Given the description of an element on the screen output the (x, y) to click on. 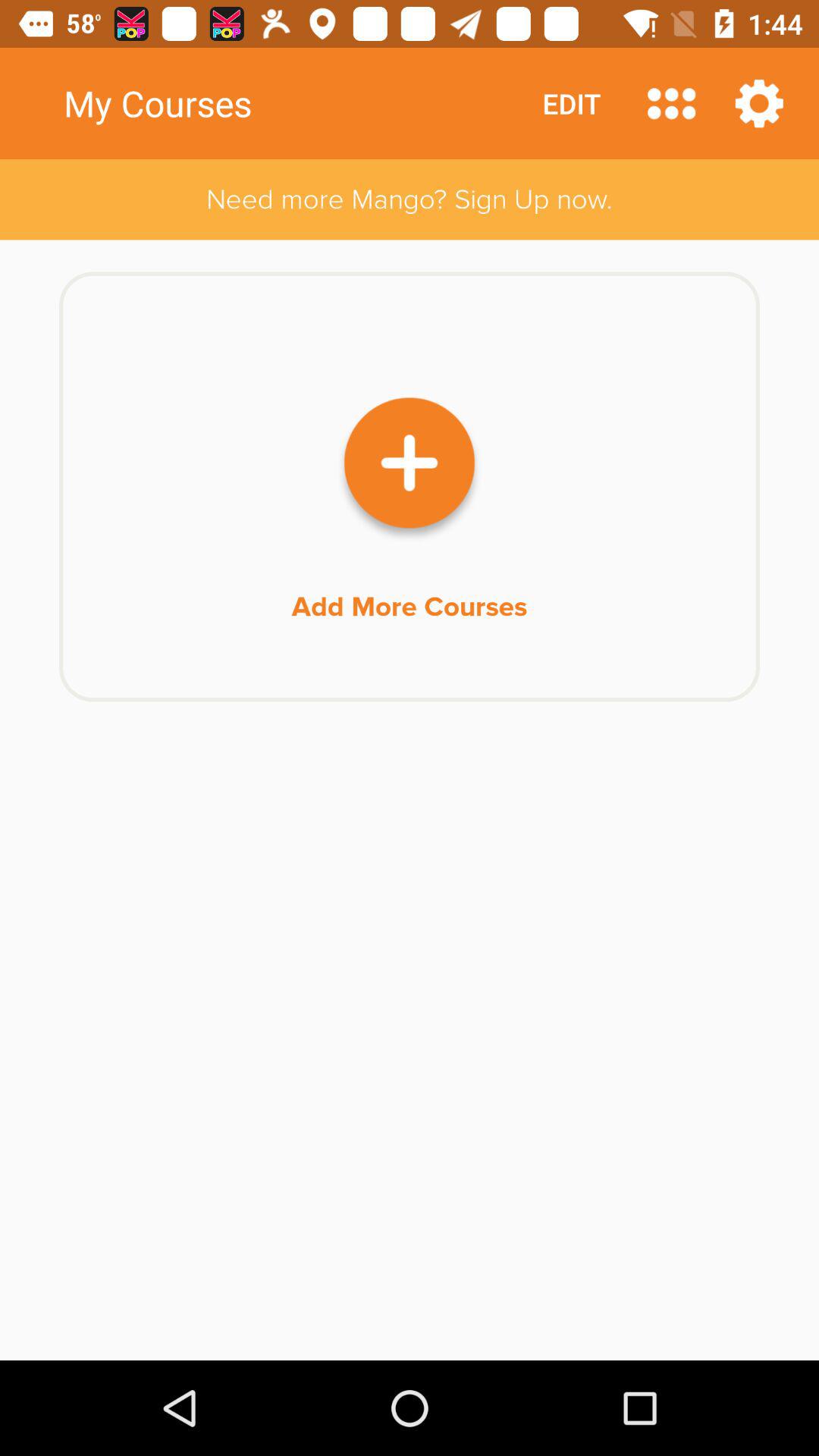
open icon above the need more mango item (571, 103)
